Given the description of an element on the screen output the (x, y) to click on. 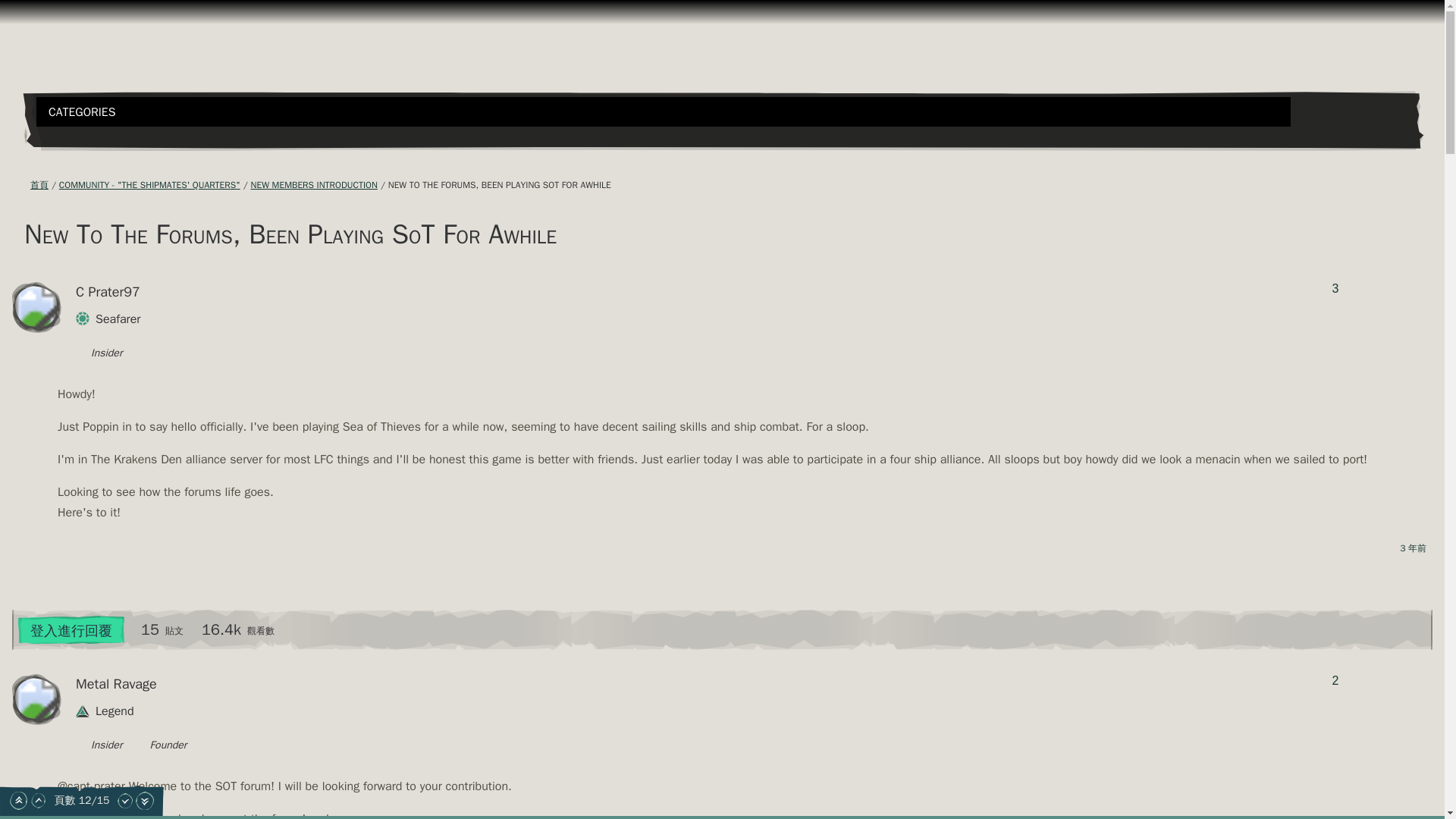
NEW MEMBERS INTRODUCTION (313, 184)
New To The Forums, Been Playing SoT For Awhile (499, 184)
Seafarer (116, 321)
16406 (221, 629)
Legend (113, 713)
New Members Introduction (313, 184)
2 (1335, 680)
15 (149, 629)
COMMUNITY - "THE SHIPMATES' QUARTERS" (149, 184)
3 (1335, 288)
Insider  (101, 746)
Founder (160, 746)
Insider  (101, 354)
